Given the description of an element on the screen output the (x, y) to click on. 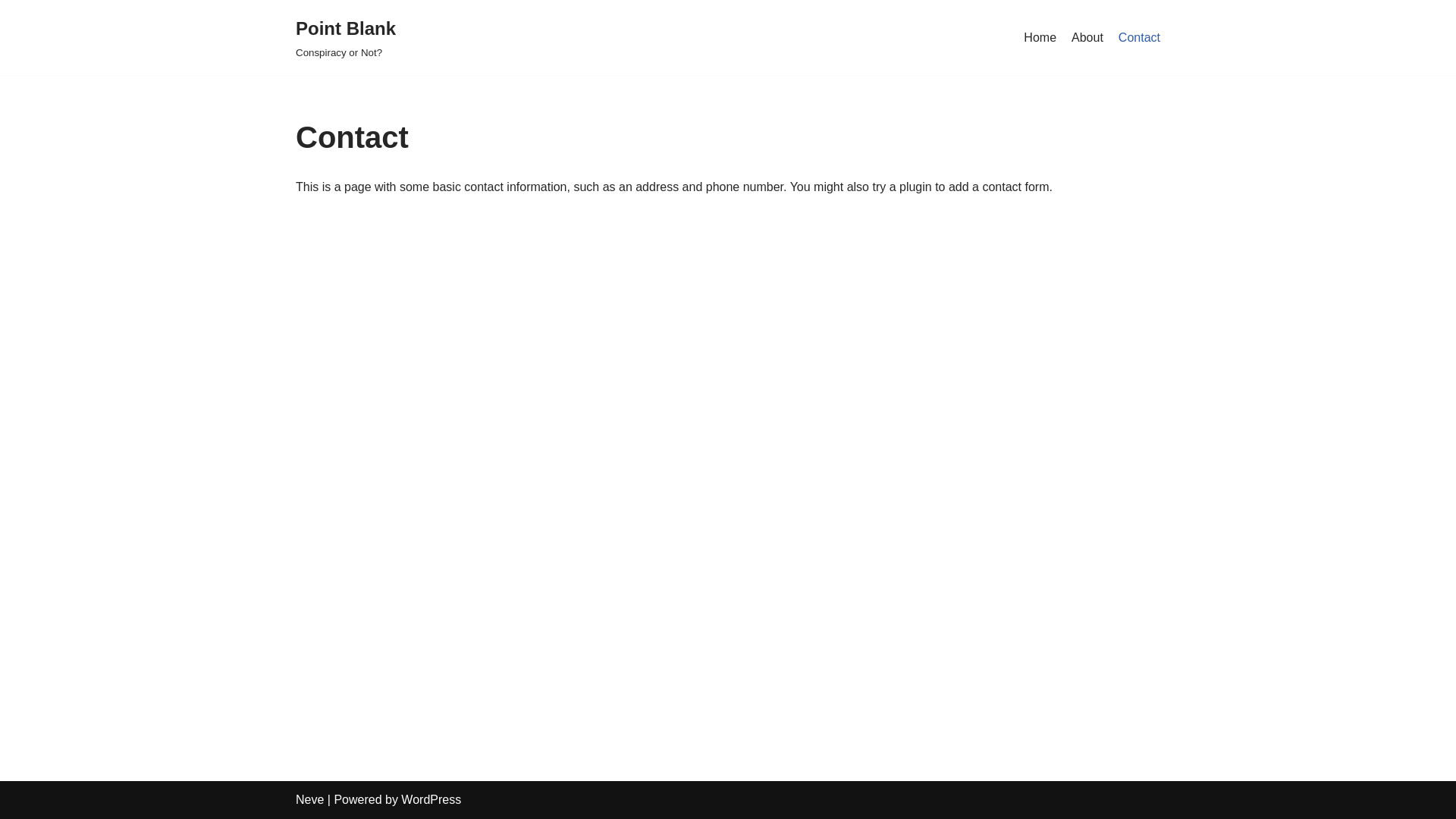
Skip to content Element type: text (11, 31)
Home Element type: text (1039, 37)
About Element type: text (1087, 37)
Contact Element type: text (1139, 37)
WordPress Element type: text (431, 799)
Point Blank
Conspiracy or Not? Element type: text (345, 37)
Neve Element type: text (309, 799)
